Given the description of an element on the screen output the (x, y) to click on. 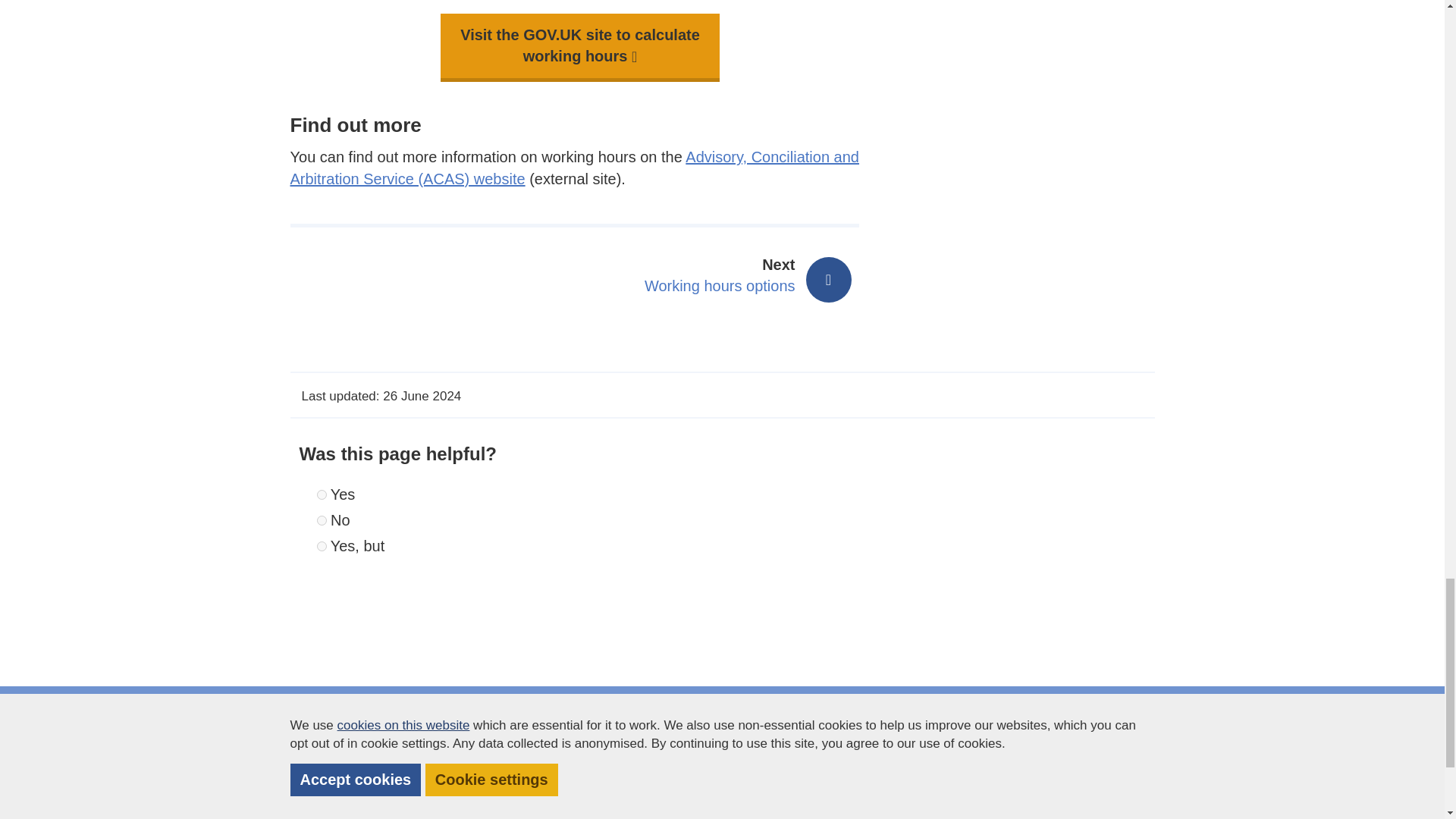
Return to the homepage (365, 775)
Visit the GOV.UK site to calculate working hours (580, 45)
Yes (321, 494)
No (321, 520)
Yes, but (722, 276)
